Given the description of an element on the screen output the (x, y) to click on. 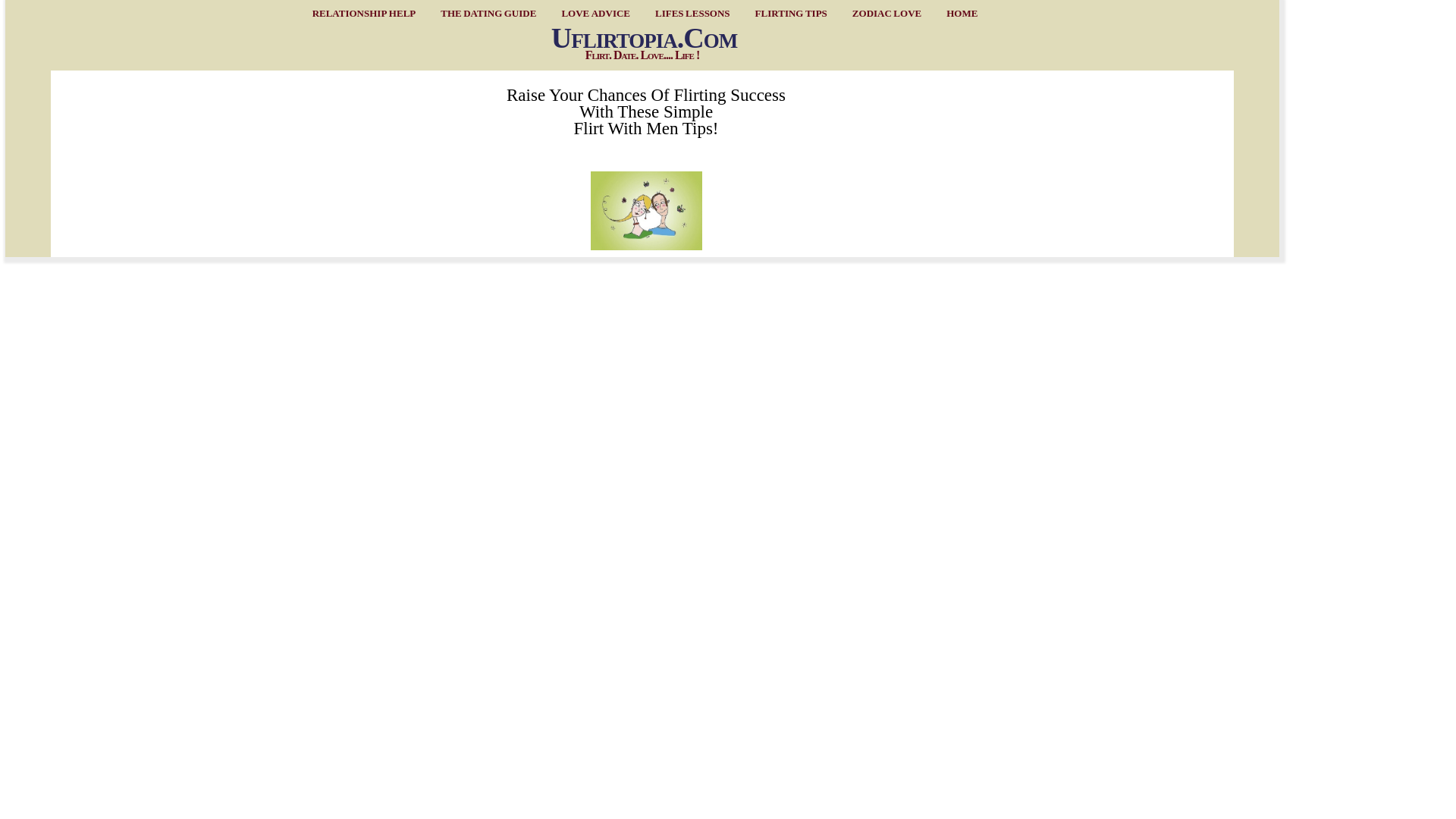
zodiac love (882, 11)
relationship help (361, 11)
Uflirtopia.Com (643, 38)
love advice (591, 11)
the dating guide (484, 11)
lifes lessons (689, 11)
flirting tips (787, 11)
Flirting Tips For Girls (646, 210)
